Given the description of an element on the screen output the (x, y) to click on. 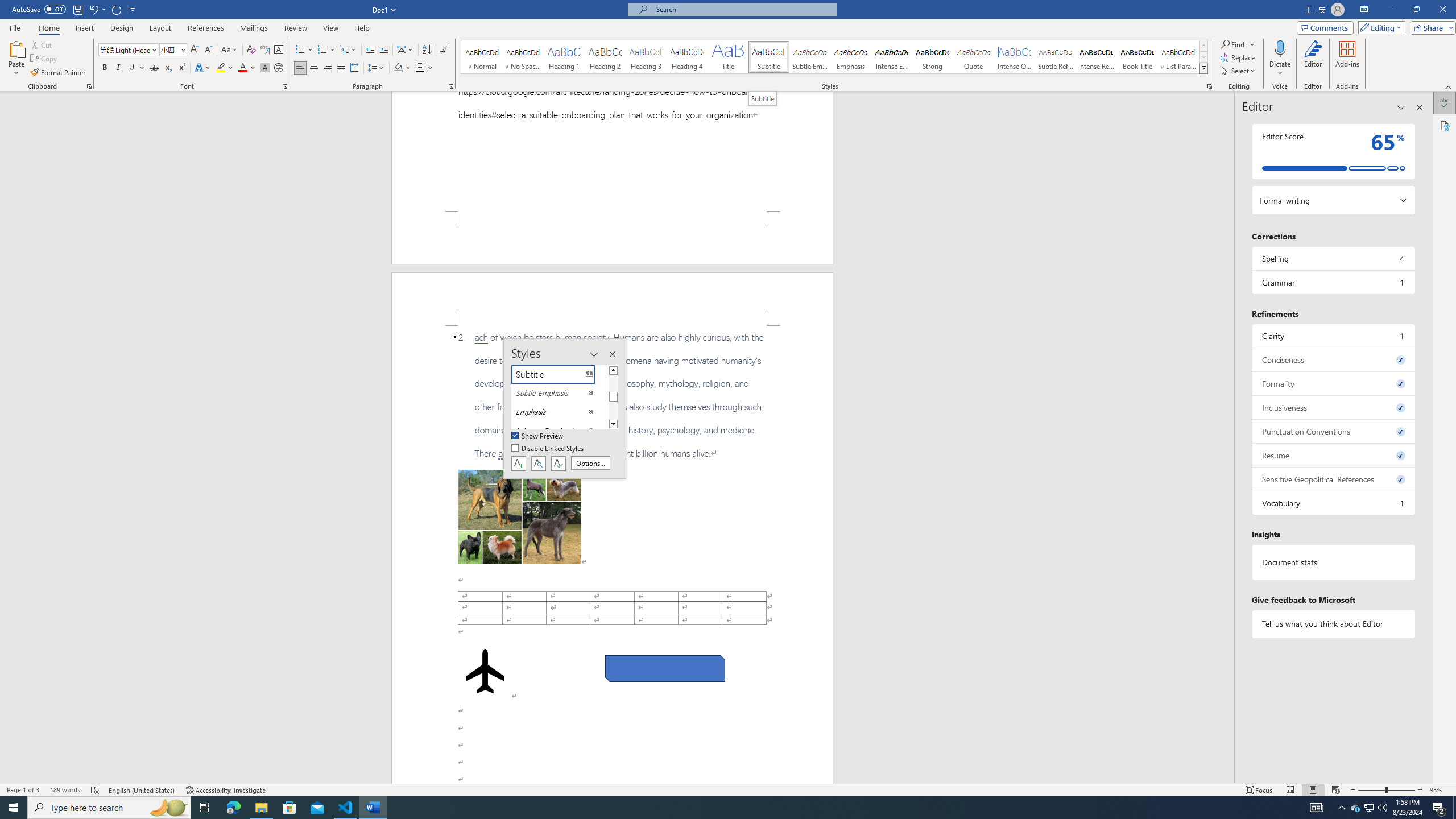
Book Title (1136, 56)
Strong (932, 56)
Save (77, 9)
Morphological variation in six dogs (519, 517)
Microsoft search (742, 9)
Font... (285, 85)
Heading 2 (605, 56)
Show/Hide Editing Marks (444, 49)
Comments (1325, 27)
Increase Indent (383, 49)
Shading (402, 67)
Shrink Font (208, 49)
Distributed (354, 67)
Select (1238, 69)
Show Preview (537, 436)
